Given the description of an element on the screen output the (x, y) to click on. 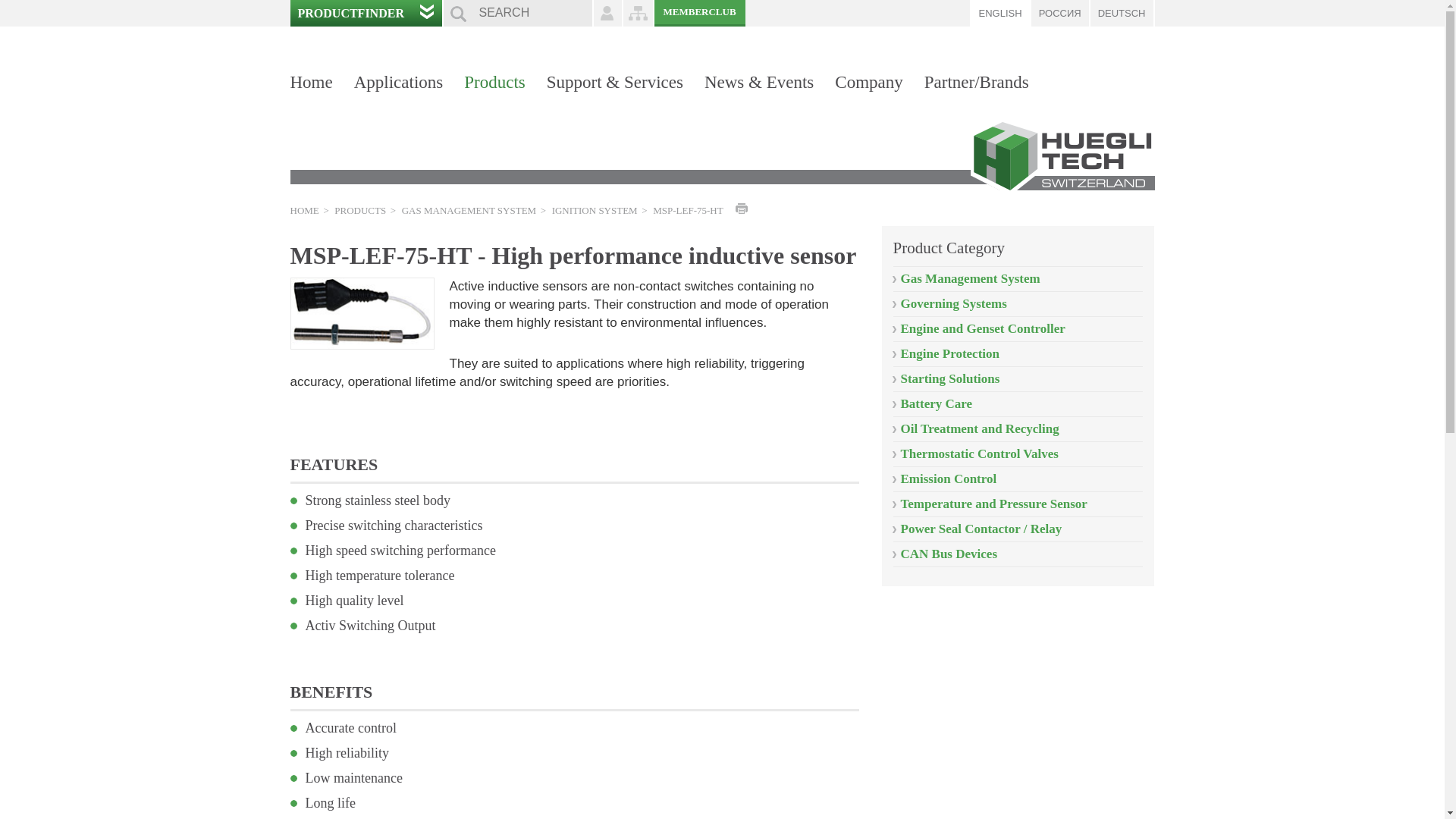
go (457, 13)
MEMBERCLUB (698, 13)
SITEMAP (638, 13)
ENGLISH (999, 13)
Applications (398, 81)
Products (493, 81)
Products (493, 81)
Home (315, 81)
Applications (398, 81)
DEUTSCH (1121, 13)
CONTACT (607, 13)
Home (315, 81)
go (457, 13)
